Given the description of an element on the screen output the (x, y) to click on. 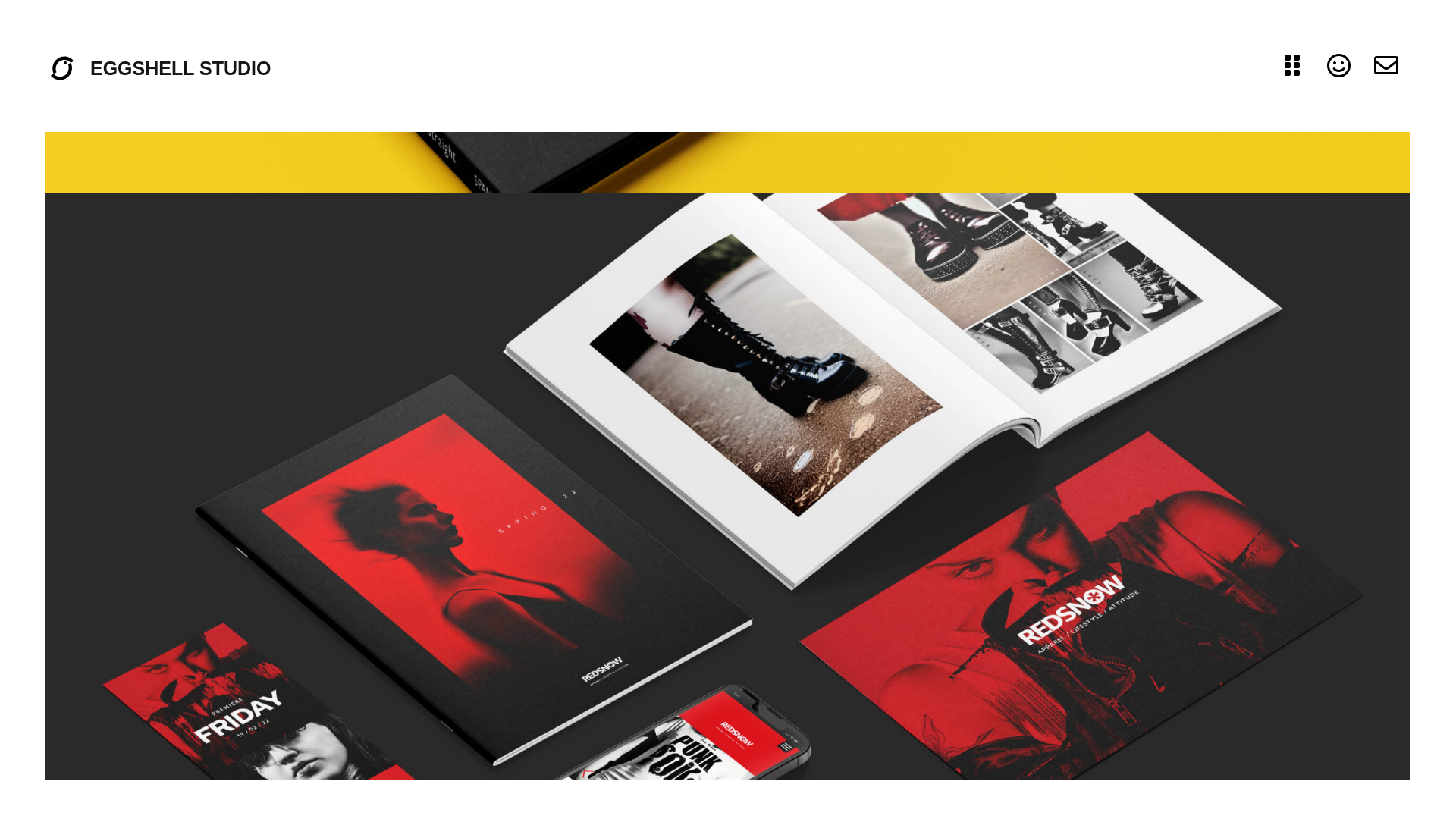
EGGSHELL STUDIO Element type: text (180, 67)
